Given the description of an element on the screen output the (x, y) to click on. 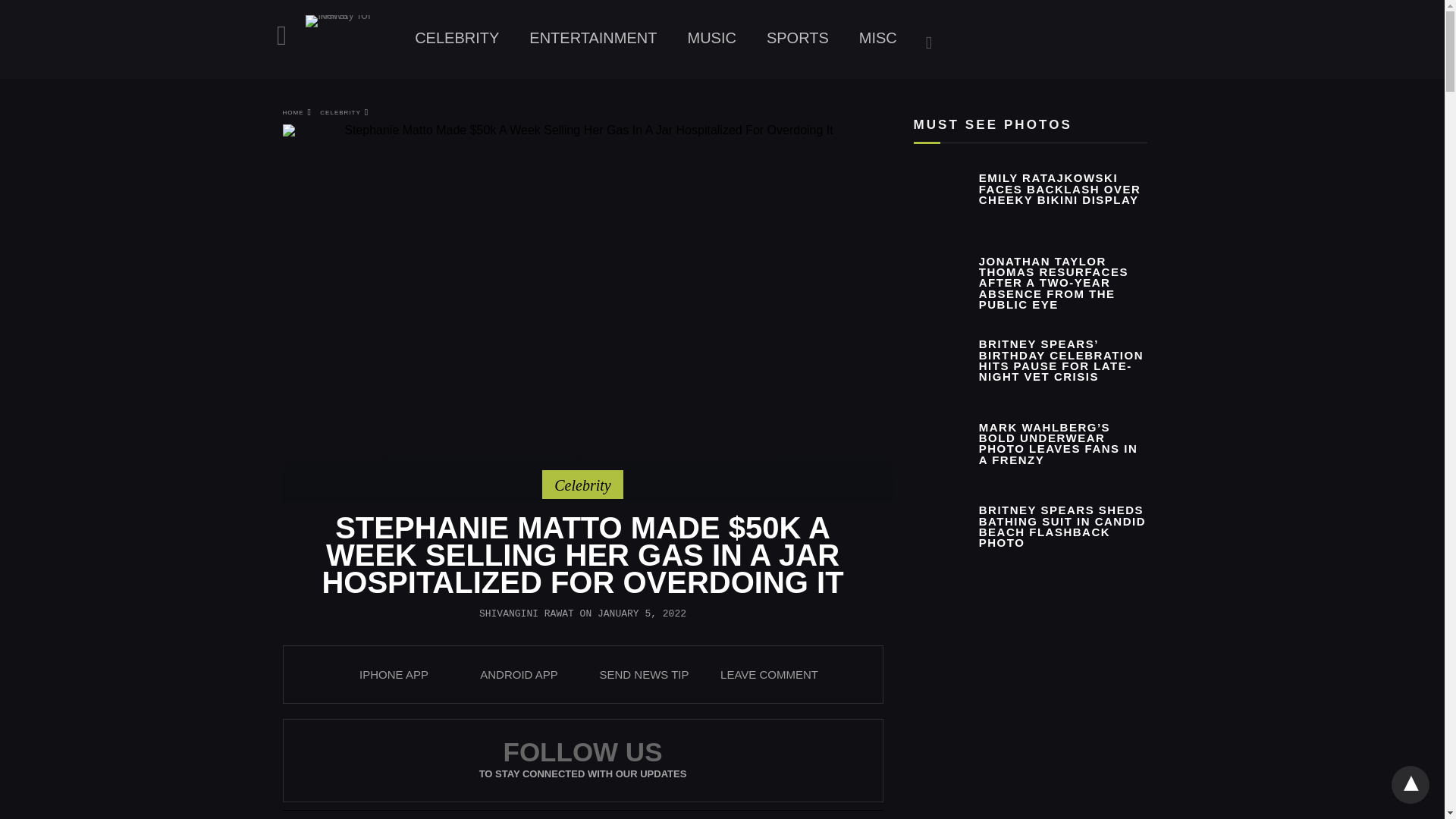
Celebrity News (455, 37)
Sports News (797, 37)
SEND NEWS TIP (643, 674)
Celebrity (582, 484)
MUSIC (711, 37)
CELEBRITY (344, 112)
LEAVE COMMENT (769, 674)
MISC (878, 37)
CELEBRITY (455, 37)
Music News (711, 37)
Entertainment News (592, 37)
SHIVANGINI RAWAT (526, 613)
HOME (296, 112)
ENTERTAINMENT (592, 37)
IPHONE APP (393, 674)
